Given the description of an element on the screen output the (x, y) to click on. 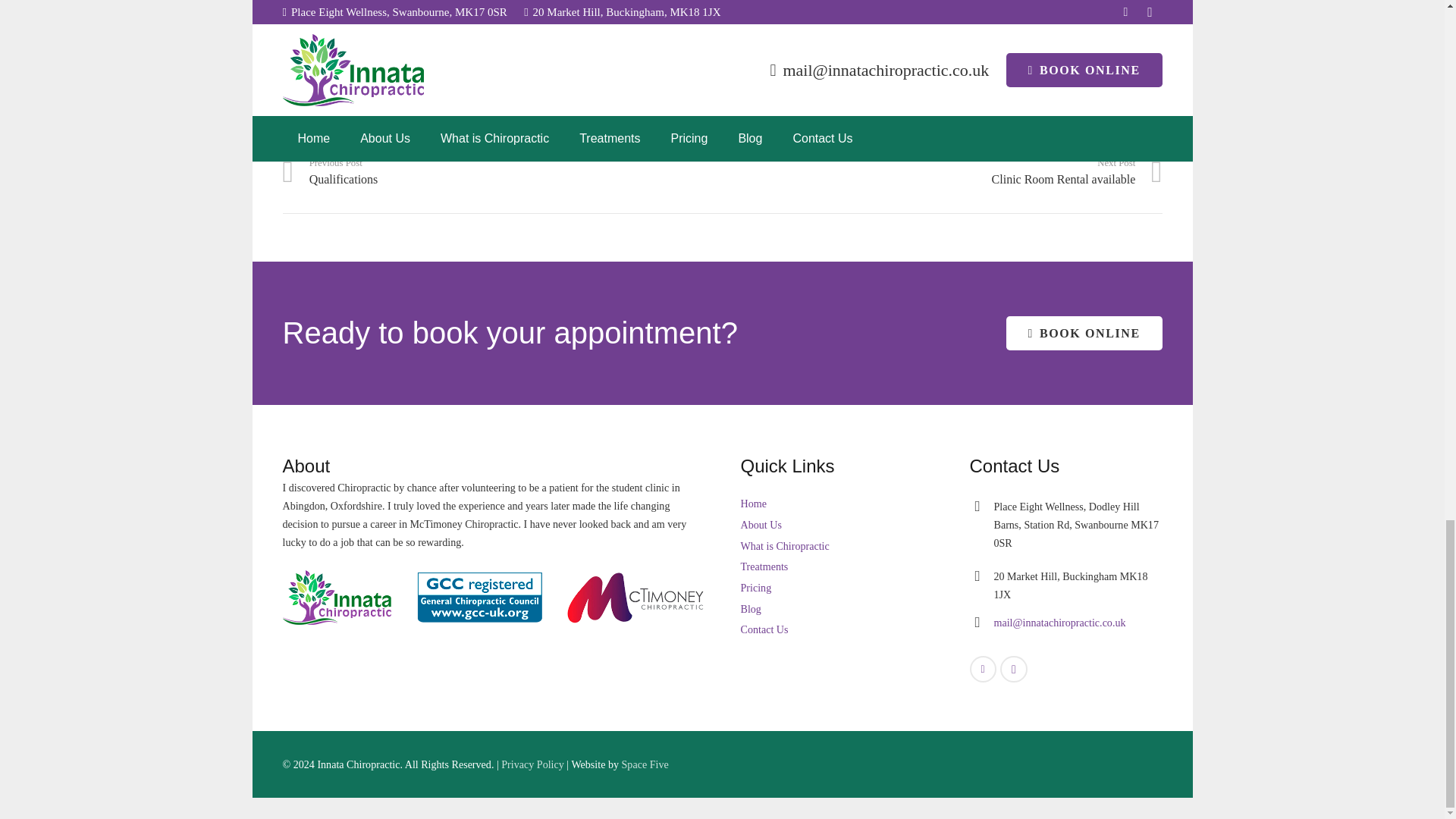
What is Chiropractic (783, 545)
About Us (759, 524)
Facebook (982, 669)
Instagram (1013, 669)
Home (752, 503)
Contact Us (763, 629)
Share this (409, 93)
Space Five (502, 172)
Share this (644, 764)
Privacy Policy (336, 93)
Tweet this (532, 764)
Treatments (373, 93)
Blog (941, 172)
